Given the description of an element on the screen output the (x, y) to click on. 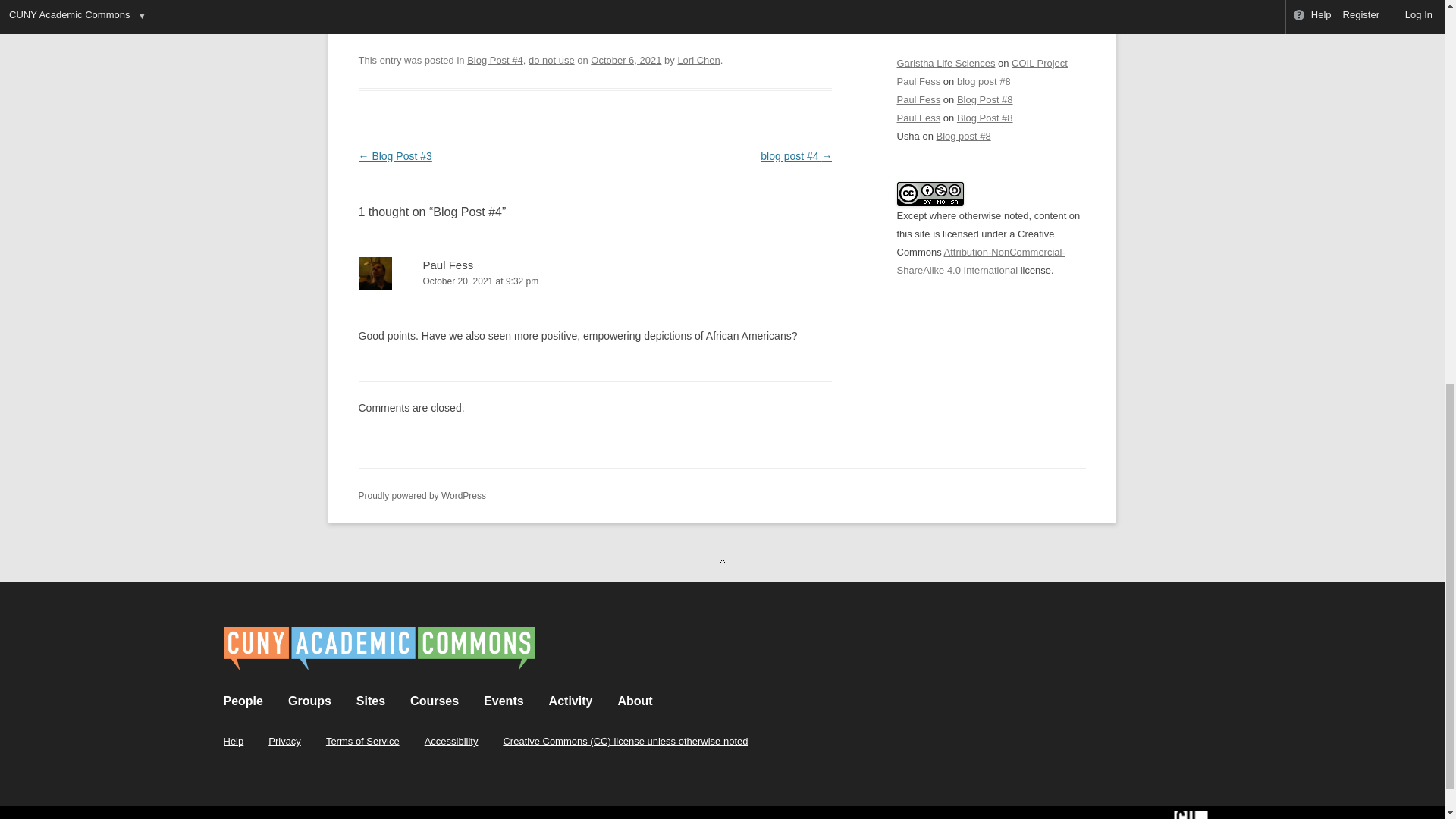
Lori Chen (698, 60)
do not use (551, 60)
October 6, 2021 (626, 60)
